Given the description of an element on the screen output the (x, y) to click on. 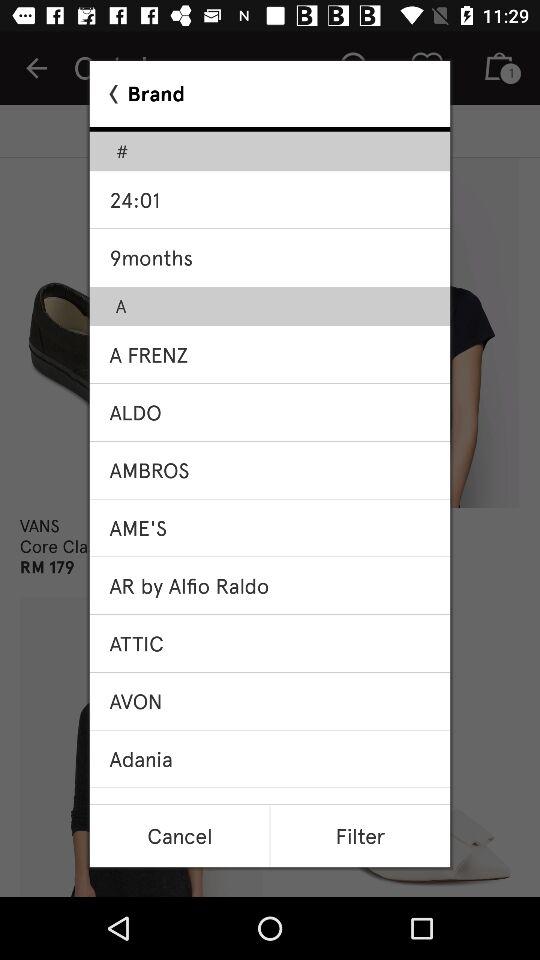
jump until the cancel (179, 836)
